Given the description of an element on the screen output the (x, y) to click on. 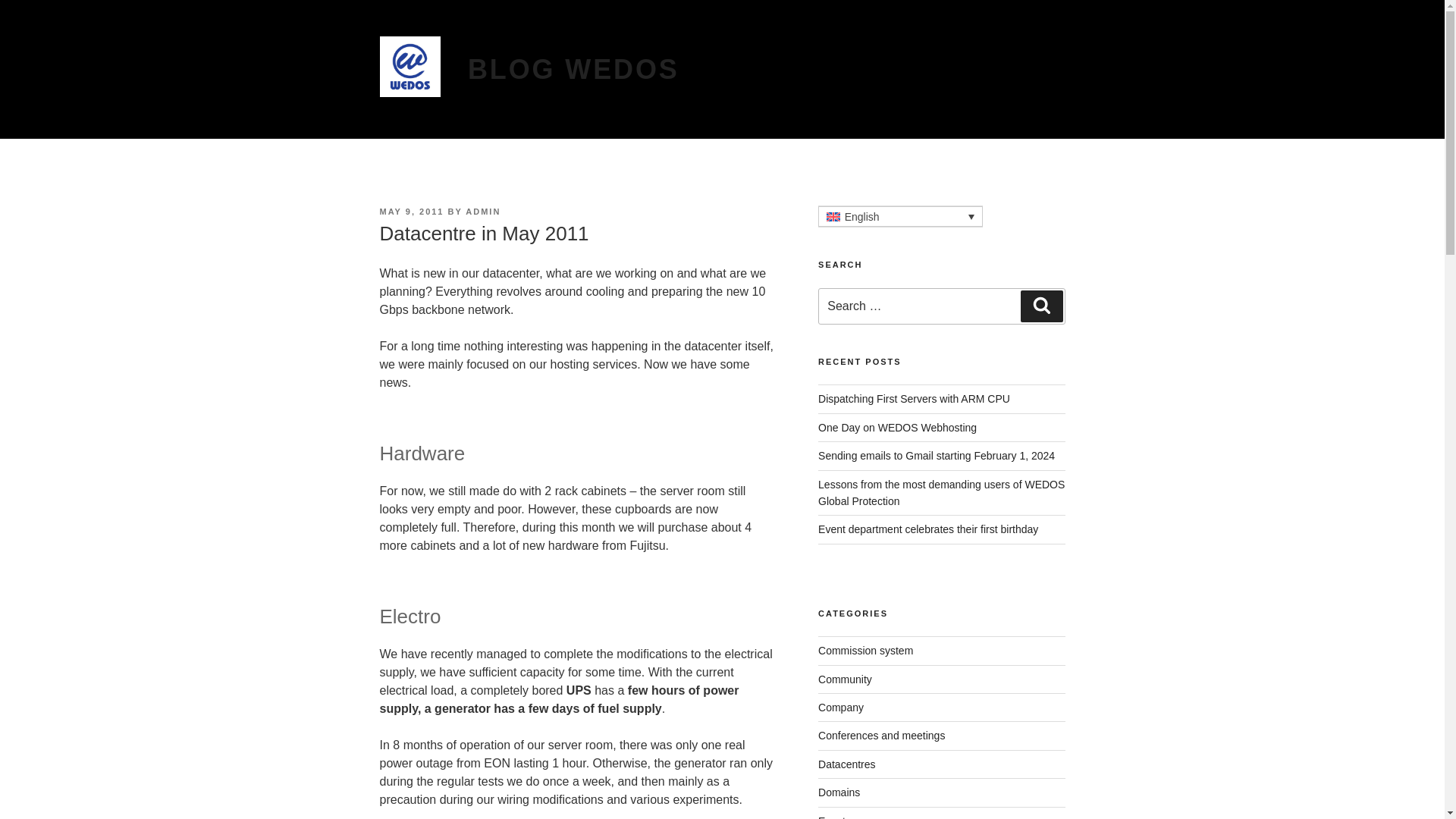
English (900, 216)
Commission system (865, 650)
Search (1041, 306)
One Day on WEDOS Webhosting (897, 427)
Events (834, 816)
Community (845, 679)
Sending emails to Gmail starting February 1, 2024 (936, 455)
ADMIN (482, 211)
Dispatching First Servers with ARM CPU (914, 398)
BLOG WEDOS (573, 69)
Event department celebrates their first birthday (928, 529)
MAY 9, 2011 (411, 211)
Company (840, 707)
Domains (839, 792)
